Given the description of an element on the screen output the (x, y) to click on. 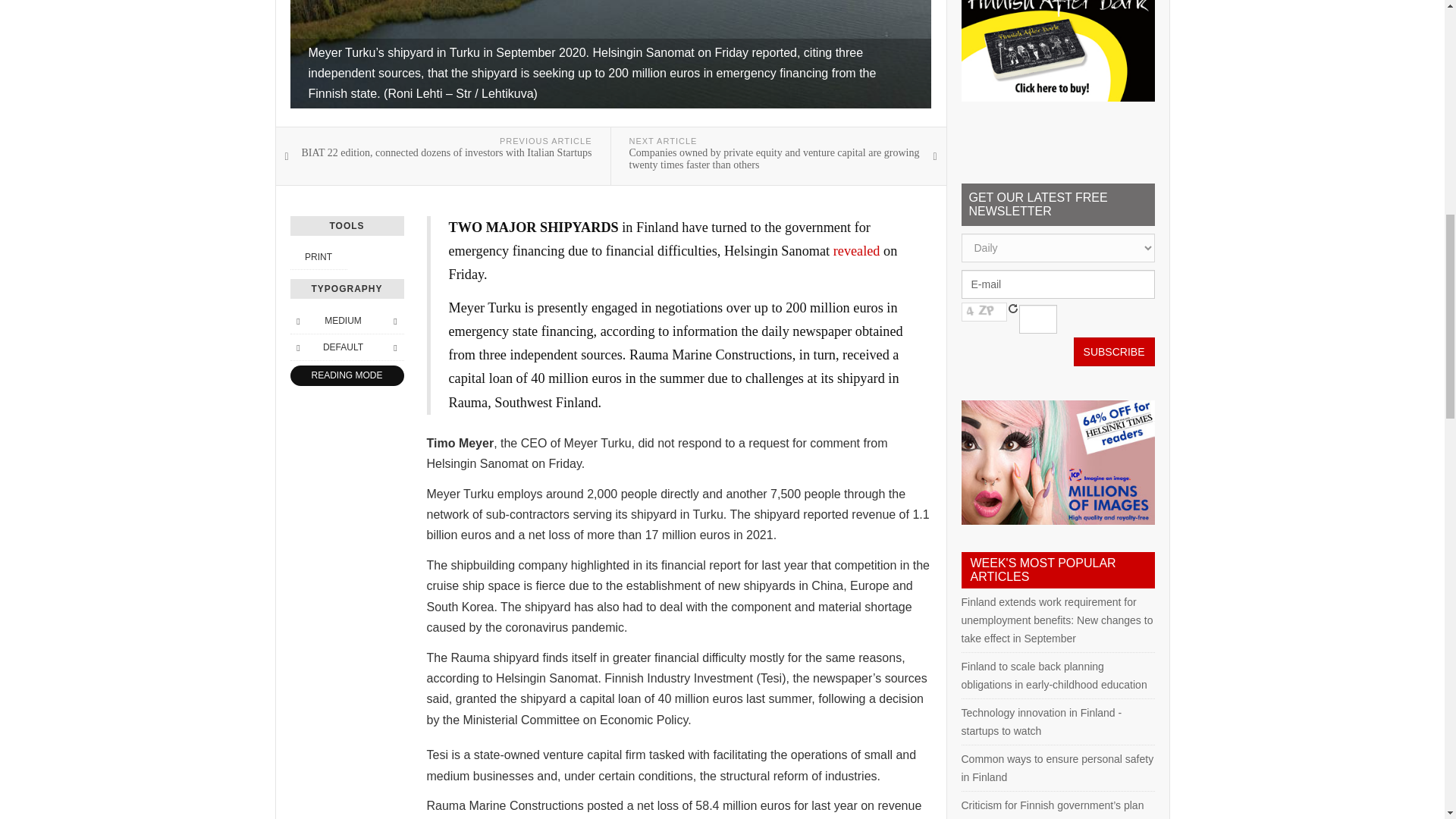
Subscribe (1114, 351)
The captcha is invalid, please try again (983, 311)
Smaller Font (297, 320)
Print (317, 256)
Bigger Font (395, 320)
Reading Mode (346, 375)
E-mail (1057, 284)
E-mail (1057, 284)
After-dark (1057, 50)
Next Font Style (395, 347)
Previous Font Style (297, 347)
